Given the description of an element on the screen output the (x, y) to click on. 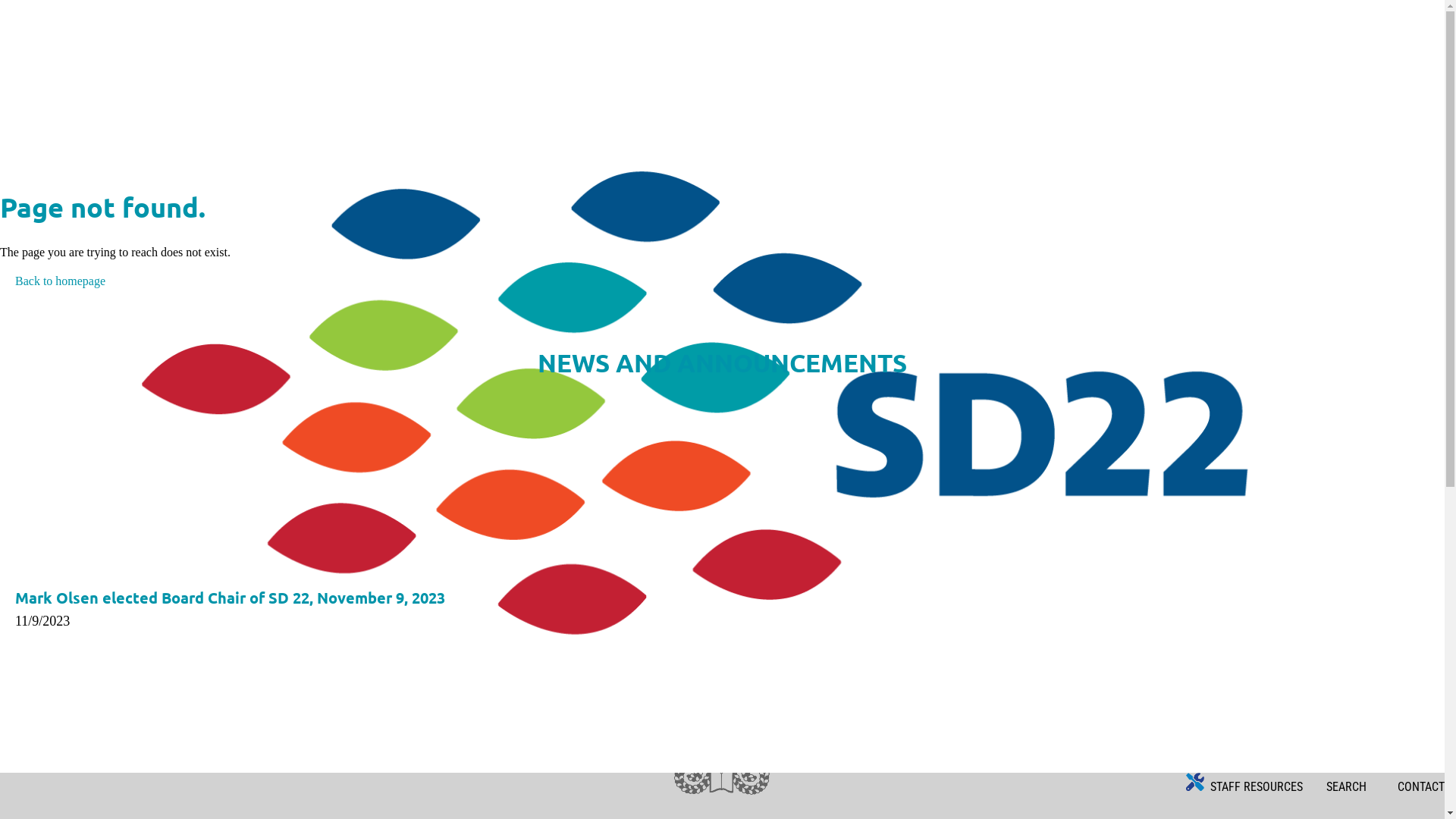
Mark Olsen elected Board Chair of SD 22, November 9, 2023 Element type: text (230, 597)
School District No. 22 Element type: hover (722, 391)
Back to homepage Element type: text (52, 280)
CONTACT Element type: text (1418, 786)
